Given the description of an element on the screen output the (x, y) to click on. 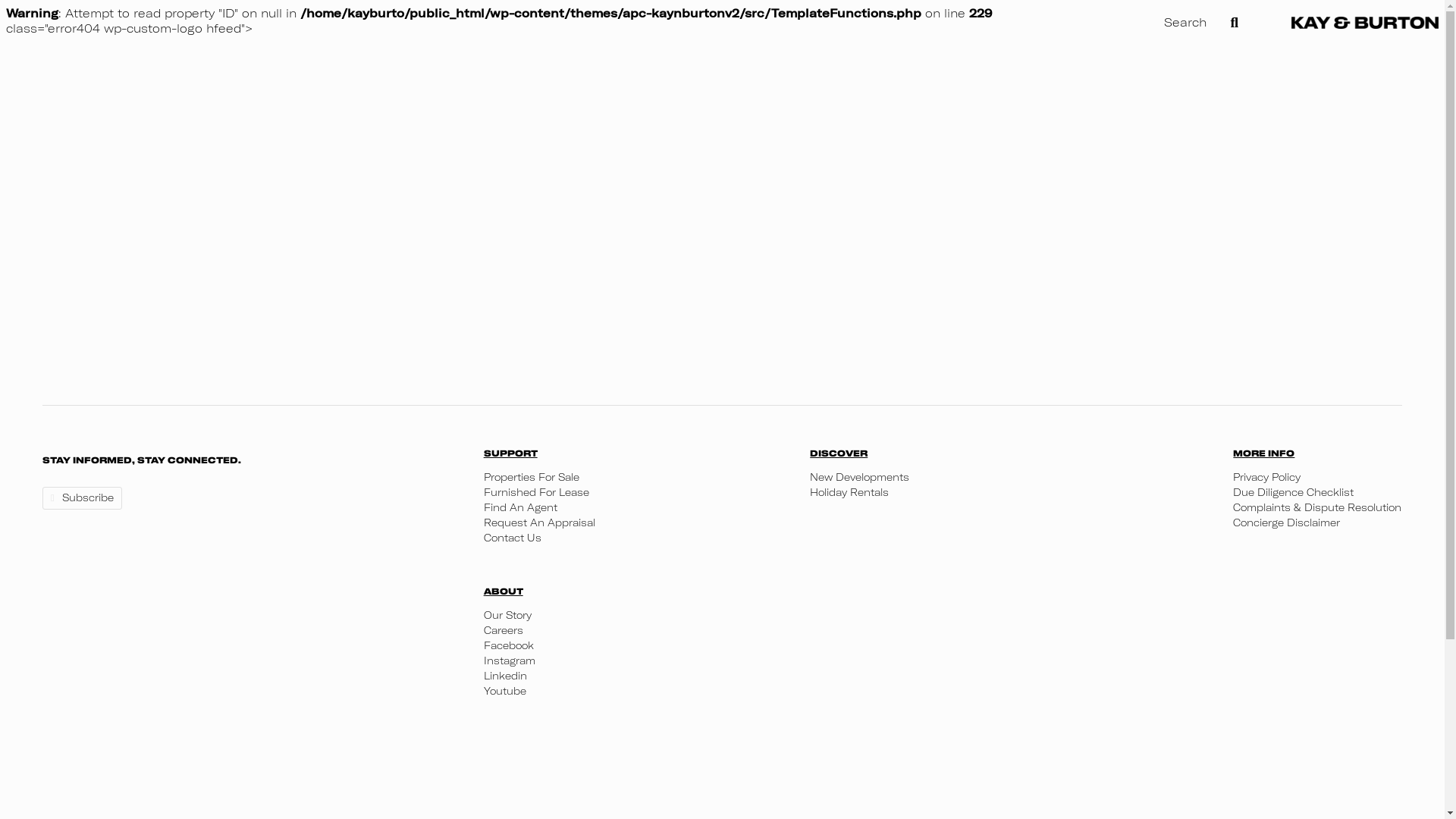
Subscribe Element type: text (82, 497)
Properties For Sale Element type: text (628, 476)
Instagram Element type: text (509, 660)
New Developments Element type: text (1002, 476)
Contact Us Element type: text (628, 537)
SUPPORT Element type: text (628, 452)
Youtube Element type: text (509, 690)
Linkedin Element type: text (509, 675)
DISCOVER Element type: text (1002, 452)
Furnished For Lease Element type: text (628, 491)
Our Story Element type: text (509, 614)
MORE INFO Element type: text (1317, 452)
Request An Appraisal Element type: text (628, 522)
Due Diligence Checklist Element type: text (1317, 491)
Search Element type: text (1201, 22)
Facebook Element type: text (509, 644)
Concierge Disclaimer Element type: text (1317, 522)
Find An Agent Element type: text (628, 506)
Privacy Policy Element type: text (1317, 476)
Holiday Rentals Element type: text (1002, 491)
ABOUT Element type: text (509, 590)
Careers Element type: text (509, 629)
Complaints & Dispute Resolution Element type: text (1317, 506)
